Given the description of an element on the screen output the (x, y) to click on. 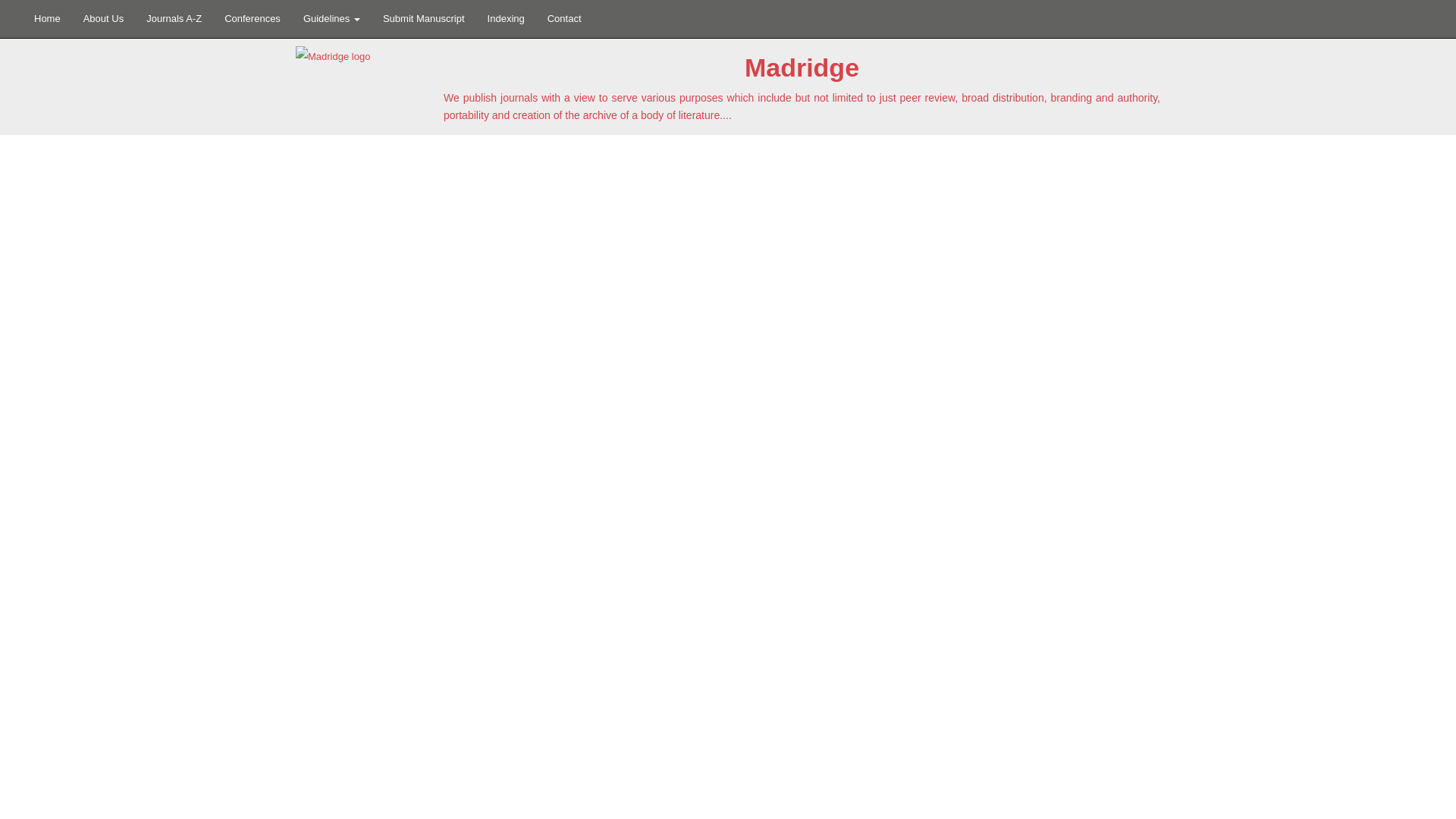
Home (47, 18)
About Us (103, 18)
Guidelines (331, 18)
Indexing (505, 18)
Submit Manuscript (423, 18)
Conferences (252, 18)
Contact (563, 18)
Journals A-Z (173, 18)
